Given the description of an element on the screen output the (x, y) to click on. 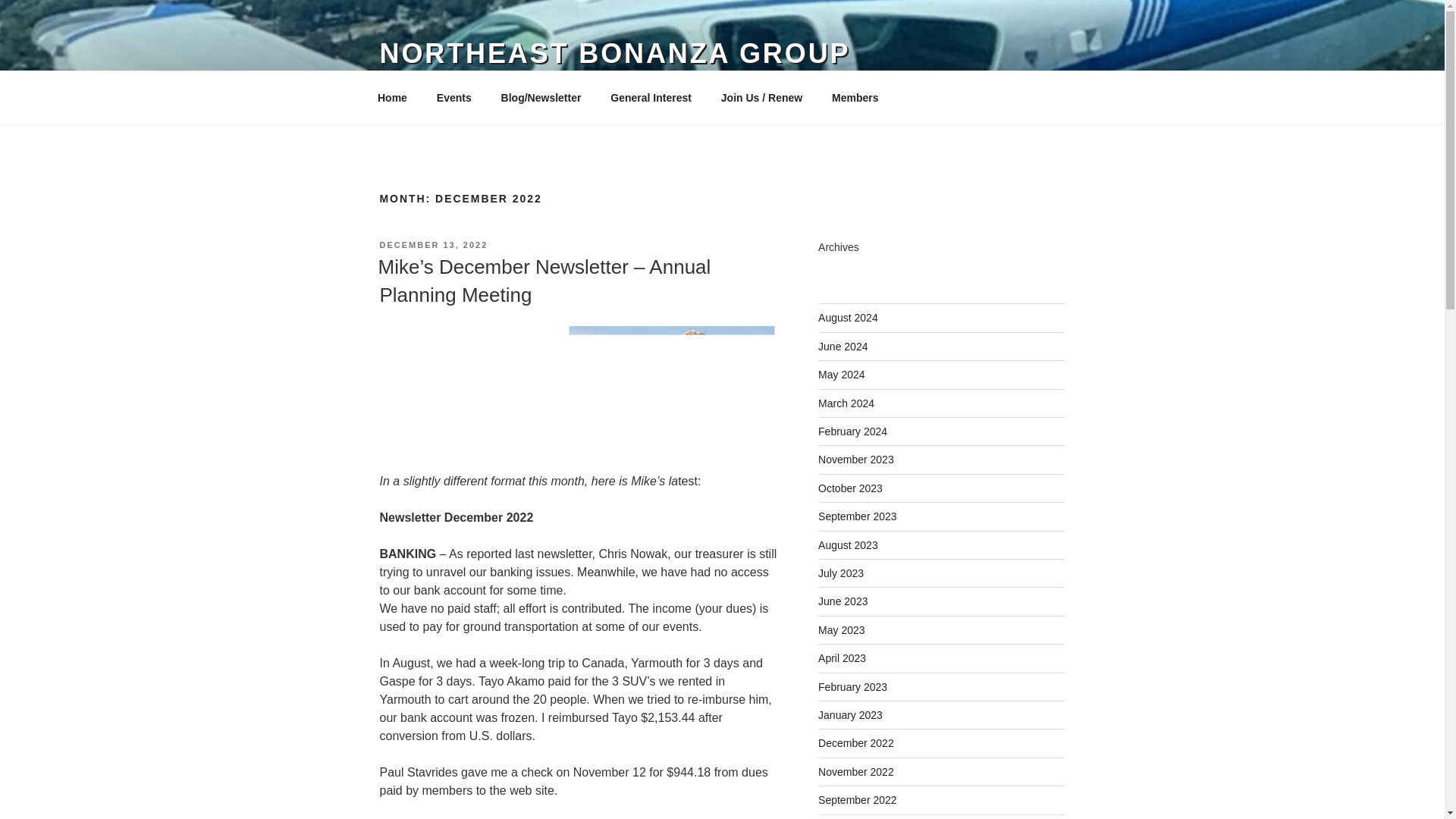
December 2022 (855, 743)
DECEMBER 13, 2022 (432, 244)
January 2023 (850, 715)
May 2023 (841, 630)
February 2023 (852, 686)
August 2023 (847, 544)
Members (860, 97)
July 2023 (840, 573)
October 2023 (850, 488)
February 2024 (852, 431)
